Given the description of an element on the screen output the (x, y) to click on. 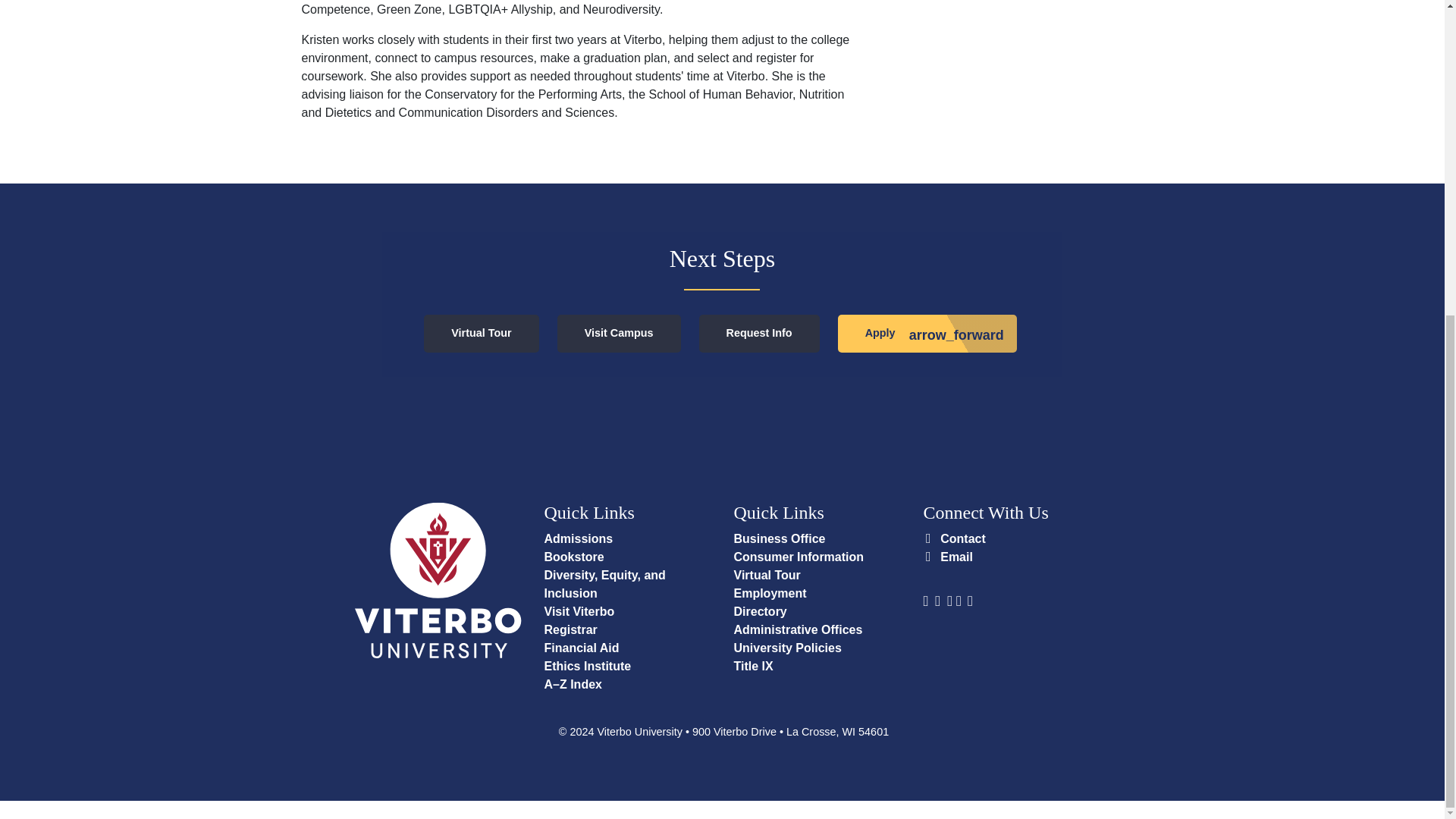
Registrar (570, 629)
Financial Aid (582, 647)
Ethics Institute (587, 666)
Virtual Tour (480, 333)
Apply (927, 333)
Diversity, Equity, and Inclusion (604, 583)
Visit Campus (619, 333)
Consumer Information (798, 556)
Request Info (758, 333)
Admissions (578, 538)
